Given the description of an element on the screen output the (x, y) to click on. 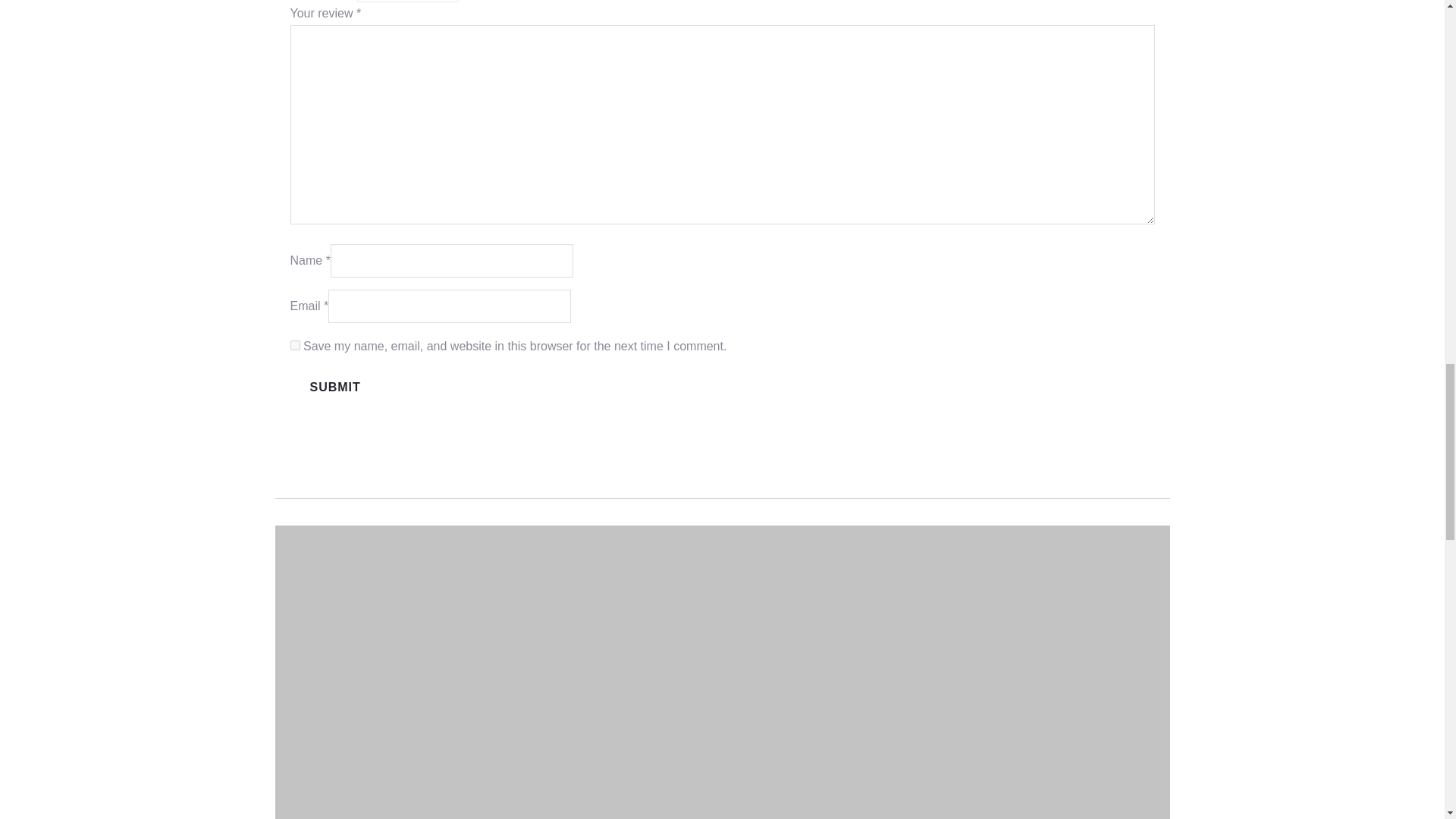
Submit (334, 387)
yes (294, 345)
